Given the description of an element on the screen output the (x, y) to click on. 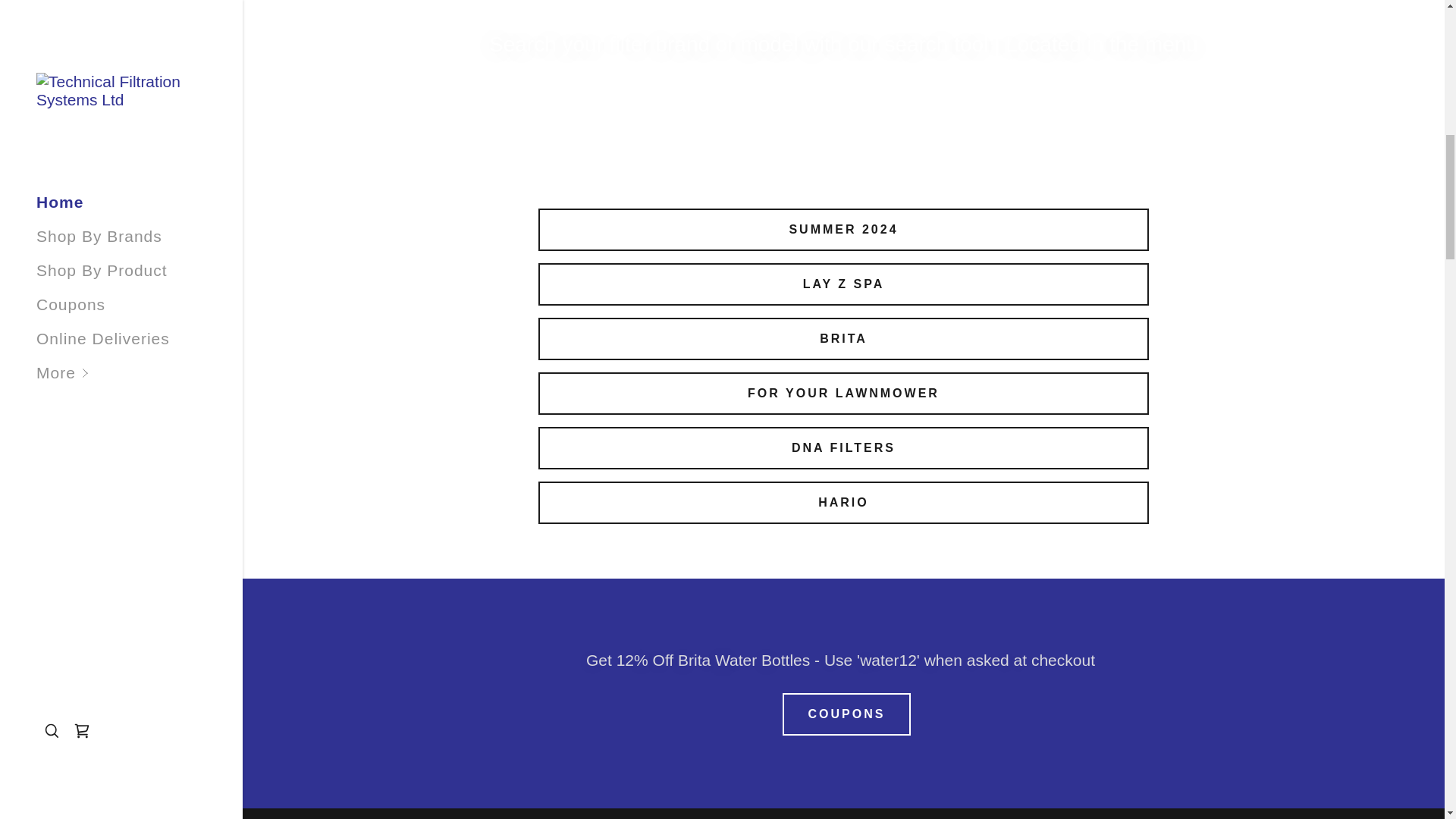
SUMMER 2024 (843, 229)
BRITA (843, 338)
LAY Z SPA (843, 283)
